Given the description of an element on the screen output the (x, y) to click on. 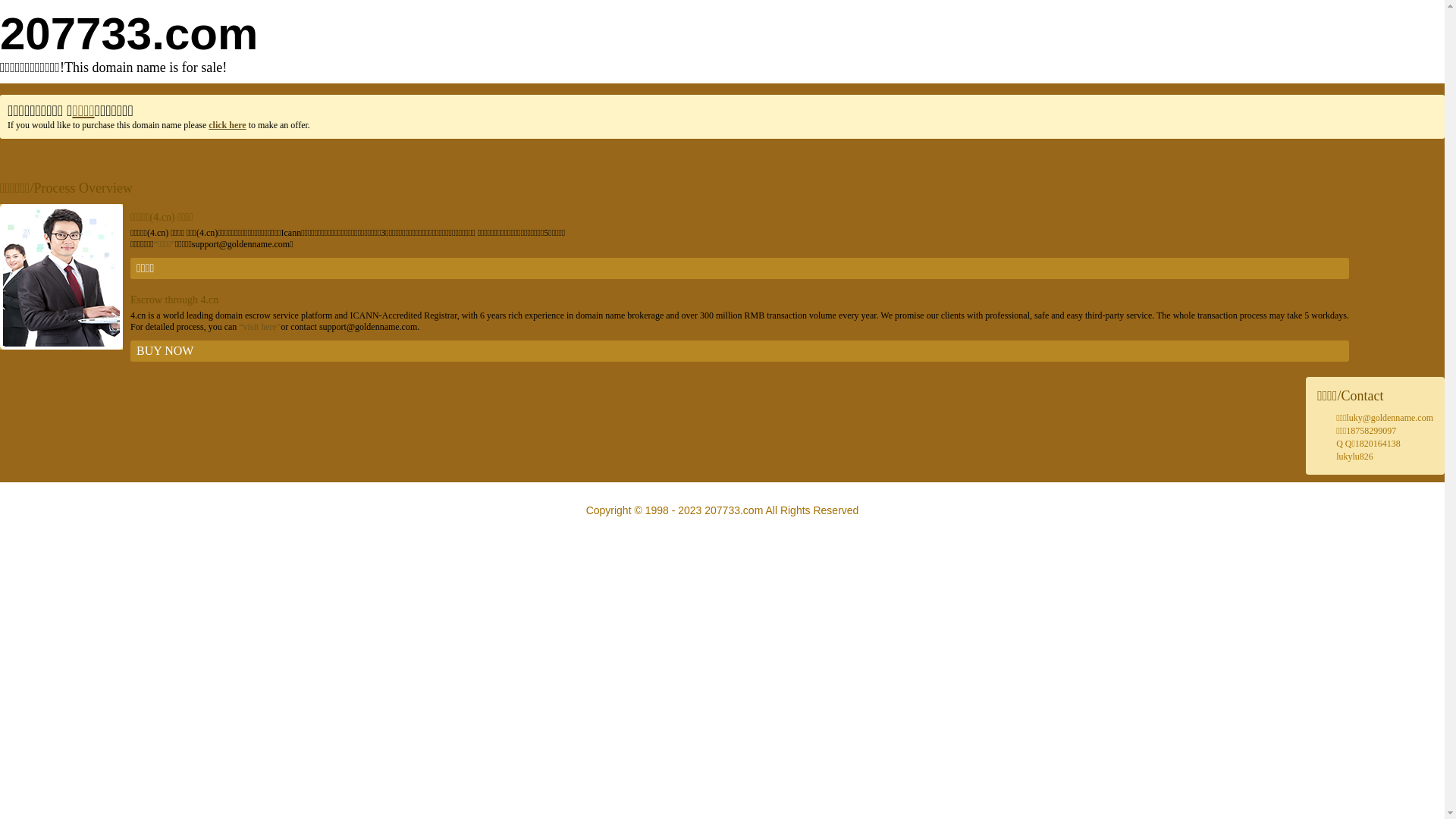
click here Element type: text (226, 124)
BUY NOW Element type: text (739, 350)
